Given the description of an element on the screen output the (x, y) to click on. 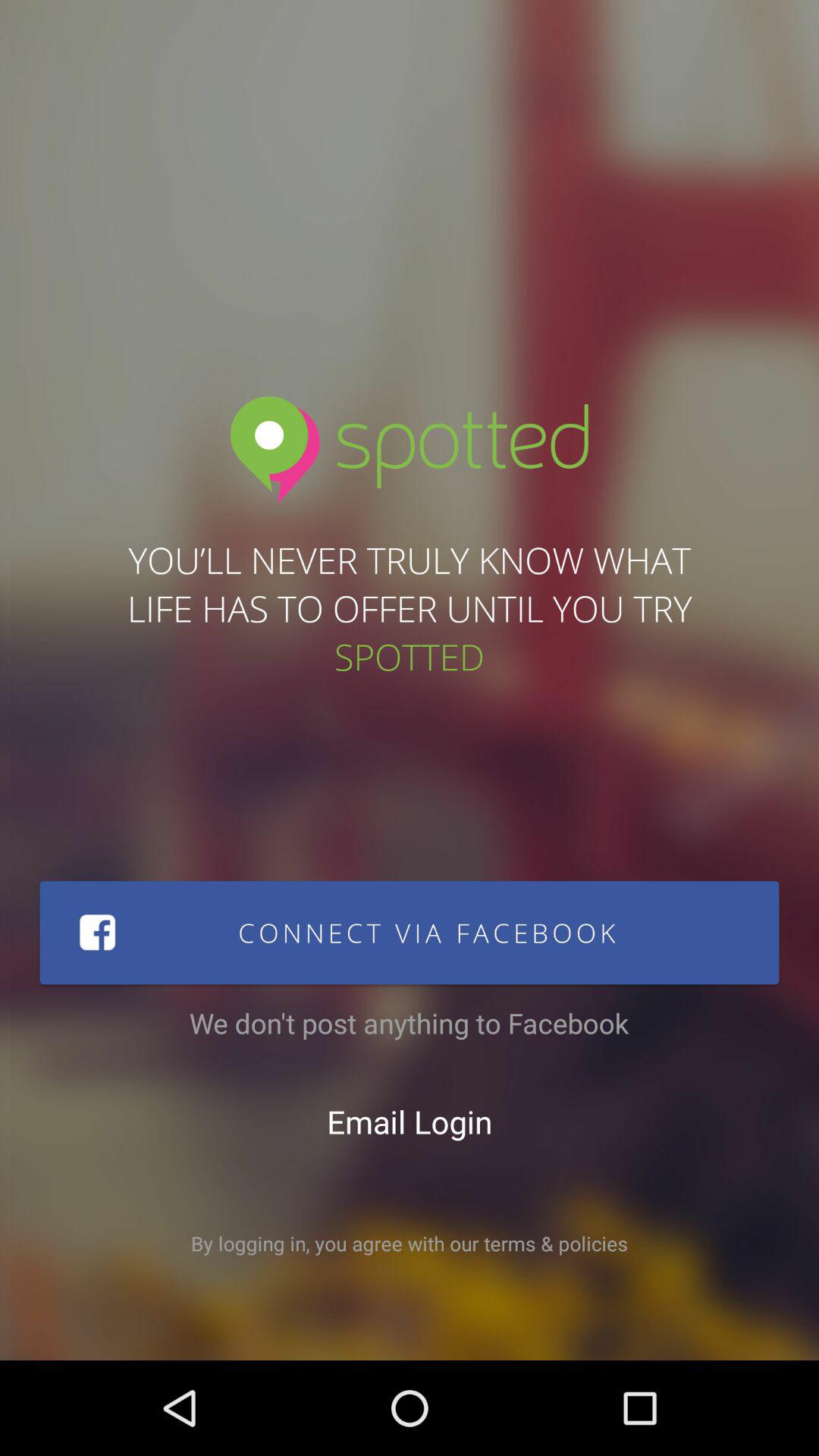
launch the item above by logging in icon (409, 1121)
